Given the description of an element on the screen output the (x, y) to click on. 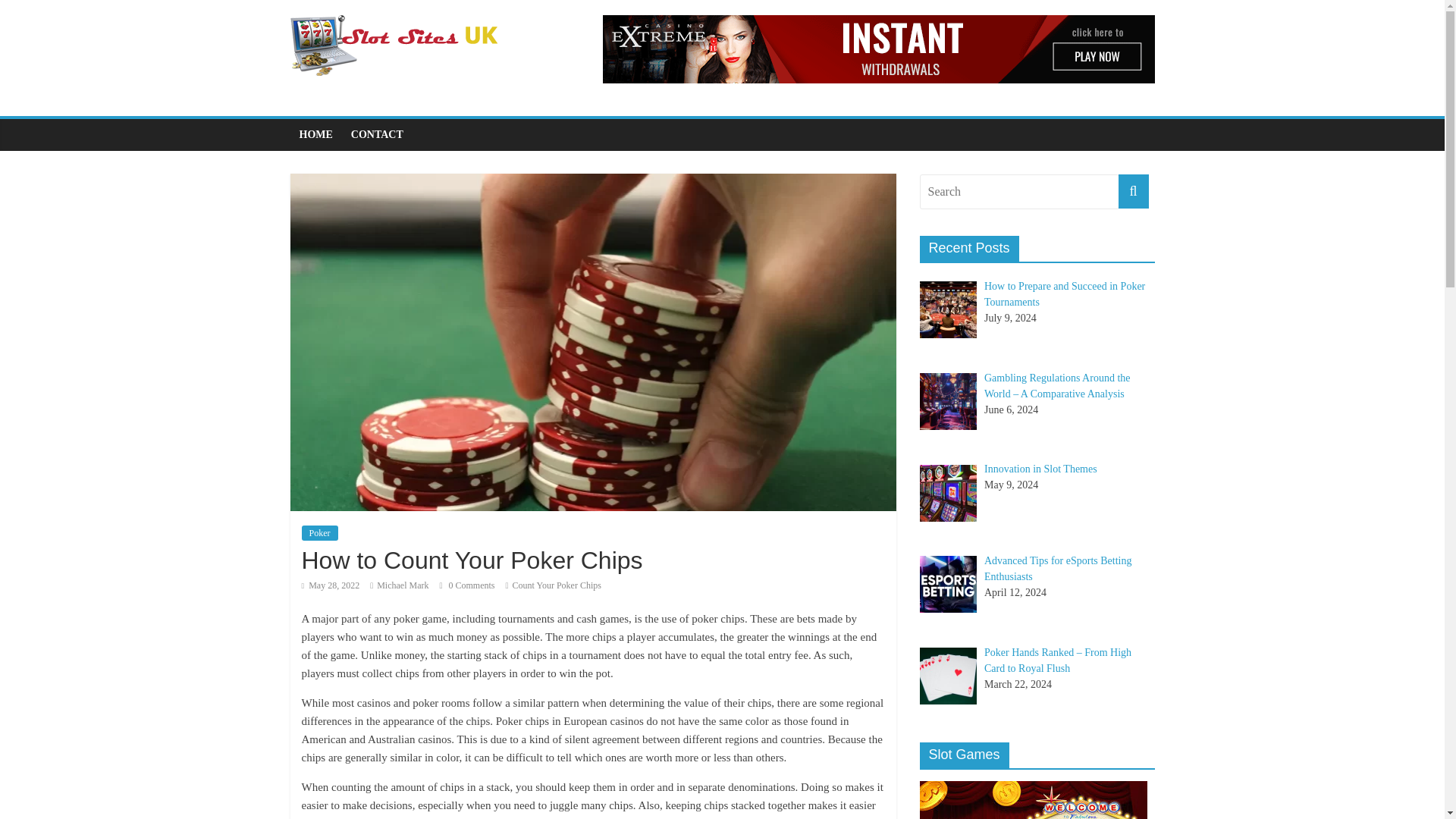
How to Prepare and Succeed in Poker Tournaments (1064, 293)
Michael Mark (402, 584)
Advanced Tips for eSports Betting Enthusiasts (1057, 568)
4:31 am (330, 584)
Michael Mark (402, 584)
HOME (314, 134)
Count Your Poker Chips (556, 584)
Poker (319, 532)
May 28, 2022 (330, 584)
CONTACT (377, 134)
0 Comments (467, 584)
Innovation in Slot Themes (1040, 469)
